Given the description of an element on the screen output the (x, y) to click on. 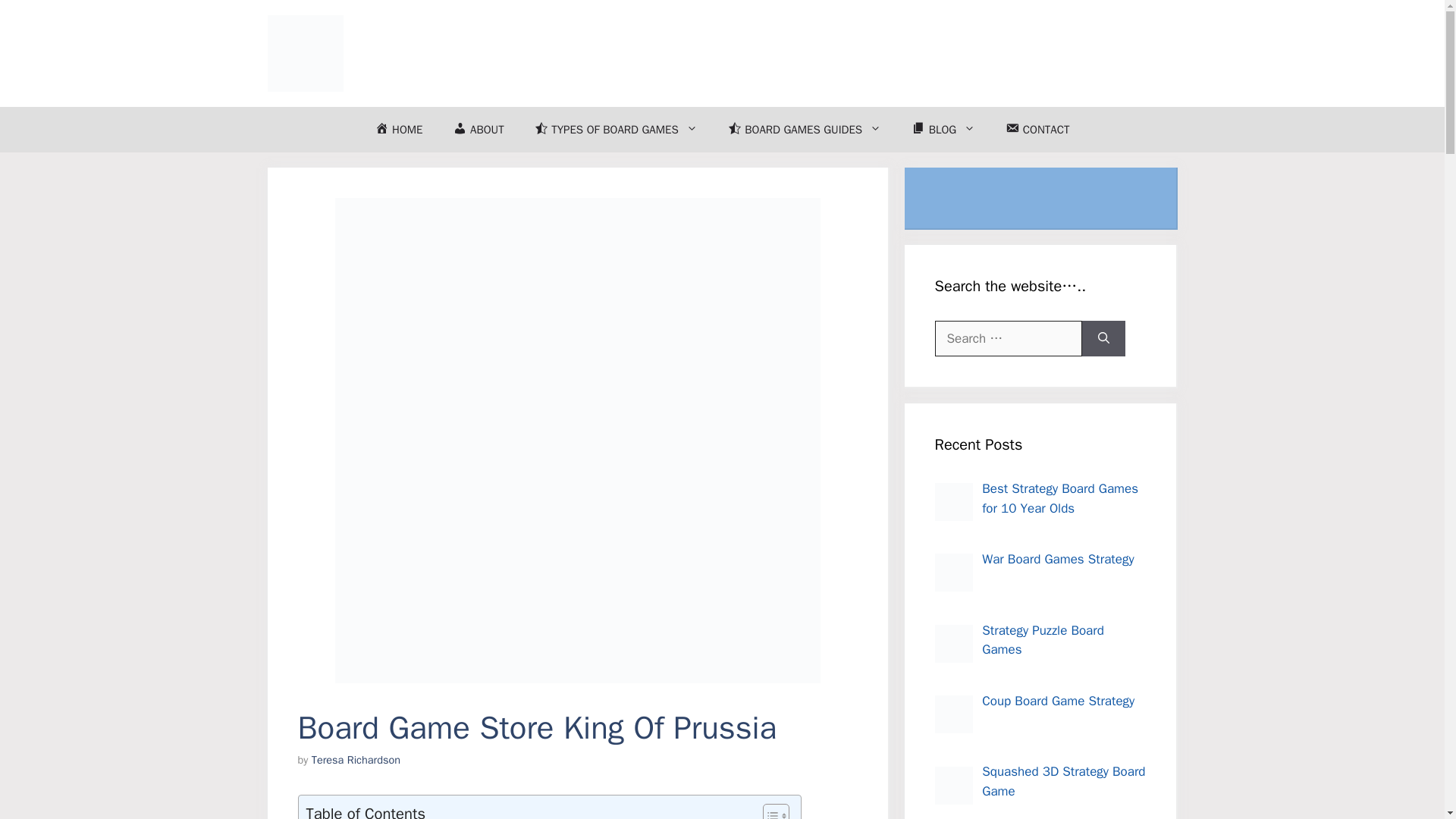
View all posts by Teresa Richardson (355, 759)
